Given the description of an element on the screen output the (x, y) to click on. 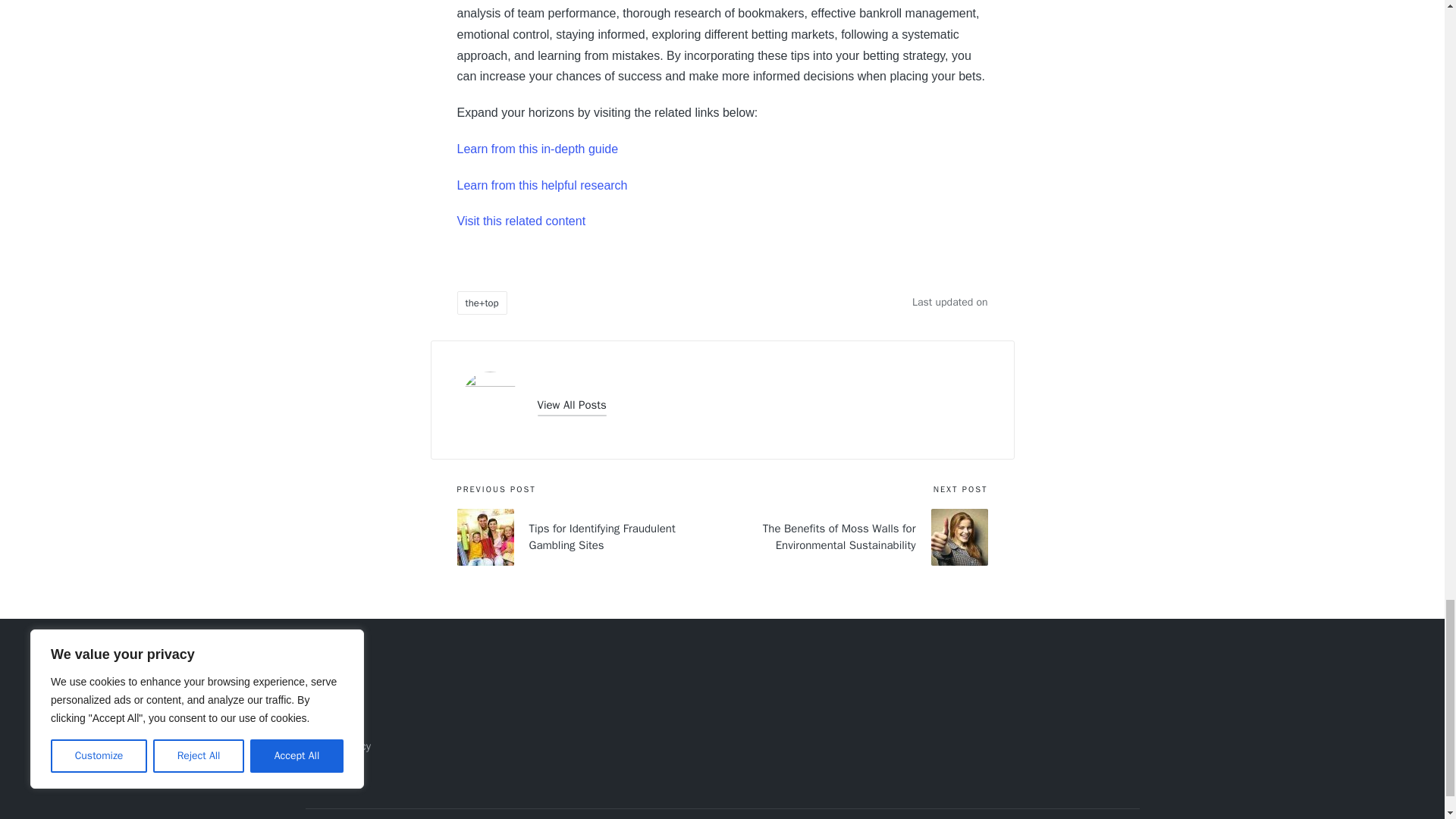
Learn from this helpful research (542, 185)
Privacy Policy (337, 745)
Contact (323, 721)
The Benefits of Moss Walls for Environmental Sustainability (854, 536)
Learn from this in-depth guide (537, 148)
About (318, 696)
View All Posts (571, 404)
Tips for Identifying Fraudulent Gambling Sites (589, 536)
Visit this related content (521, 220)
